Given the description of an element on the screen output the (x, y) to click on. 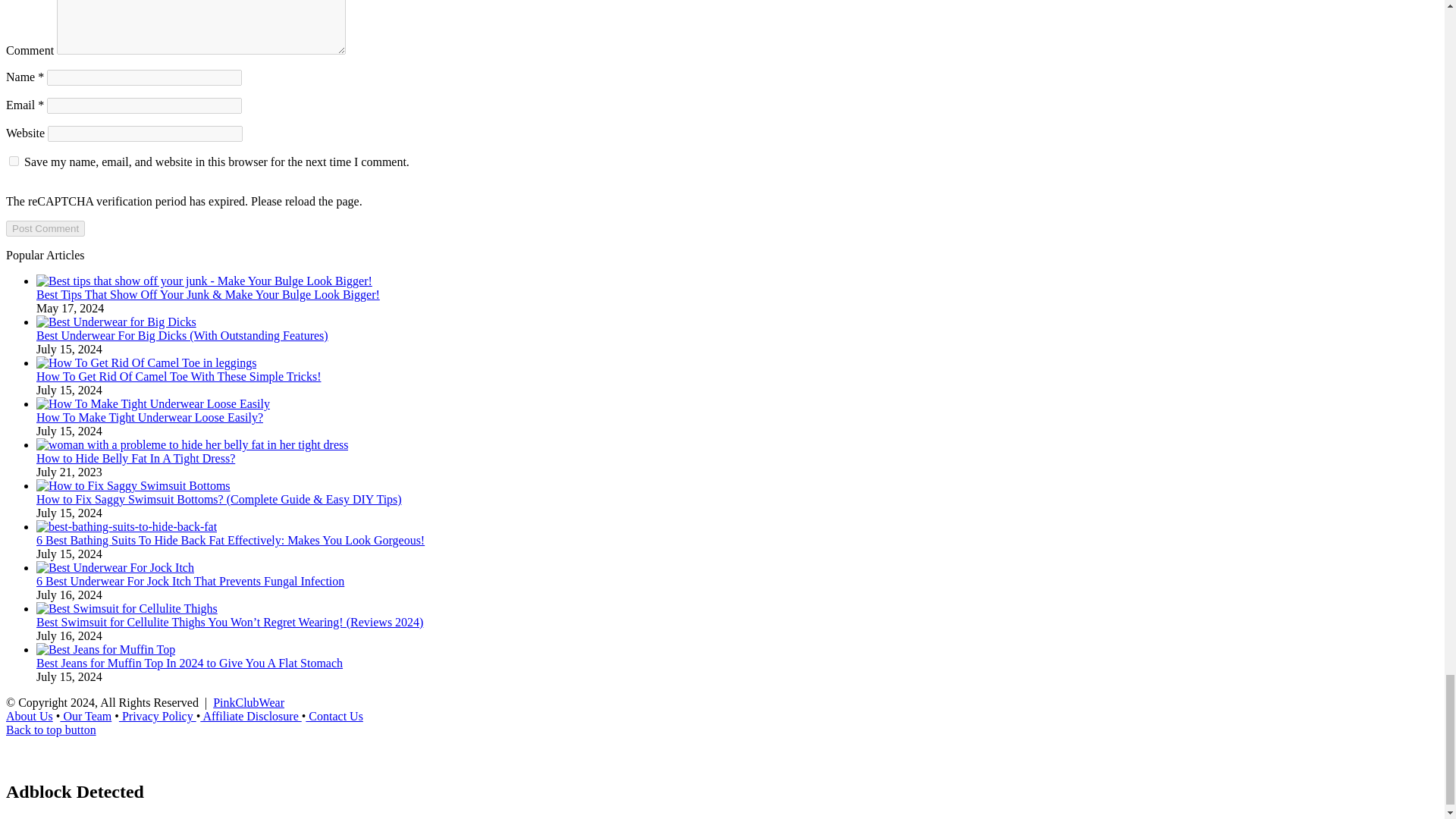
yes (13, 161)
Post Comment (44, 228)
